Given the description of an element on the screen output the (x, y) to click on. 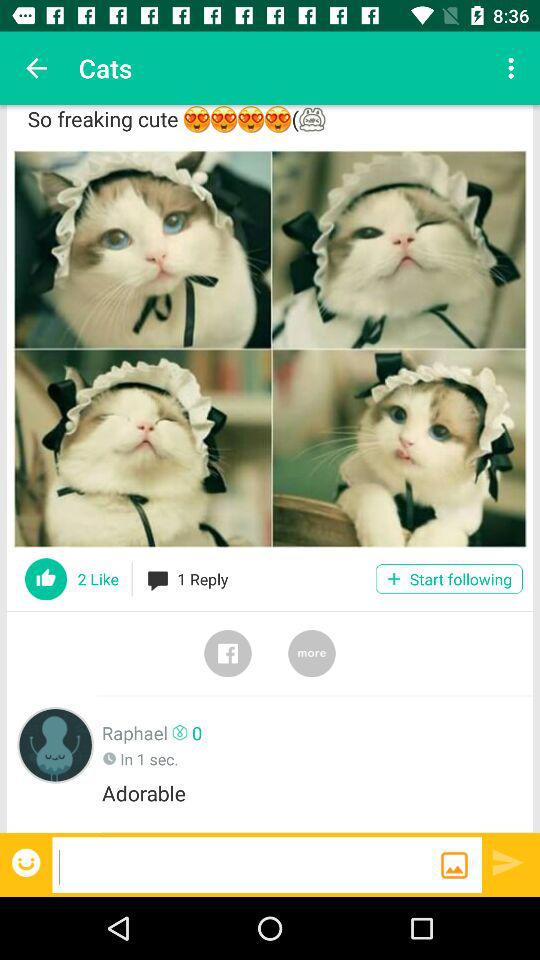
select an image (454, 865)
